Given the description of an element on the screen output the (x, y) to click on. 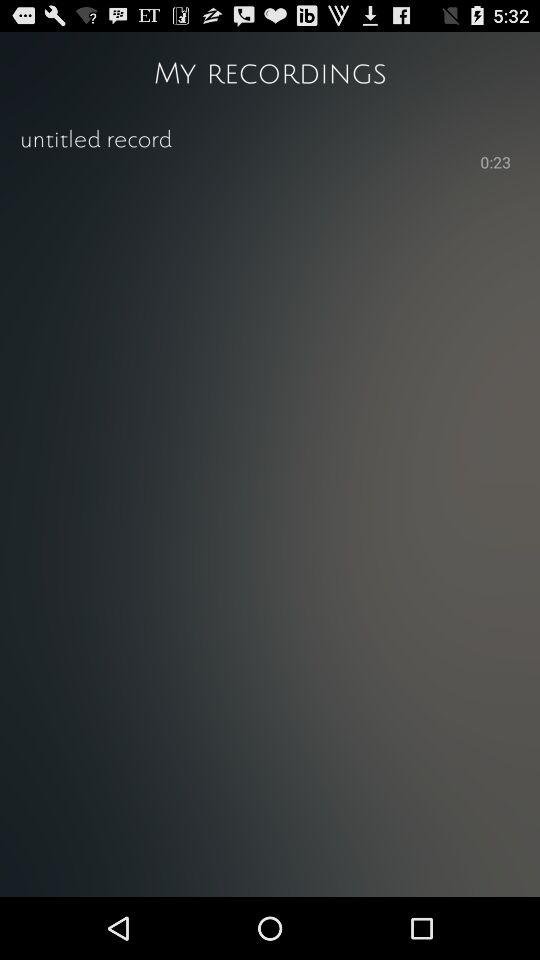
swipe until 0:23 item (495, 163)
